Given the description of an element on the screen output the (x, y) to click on. 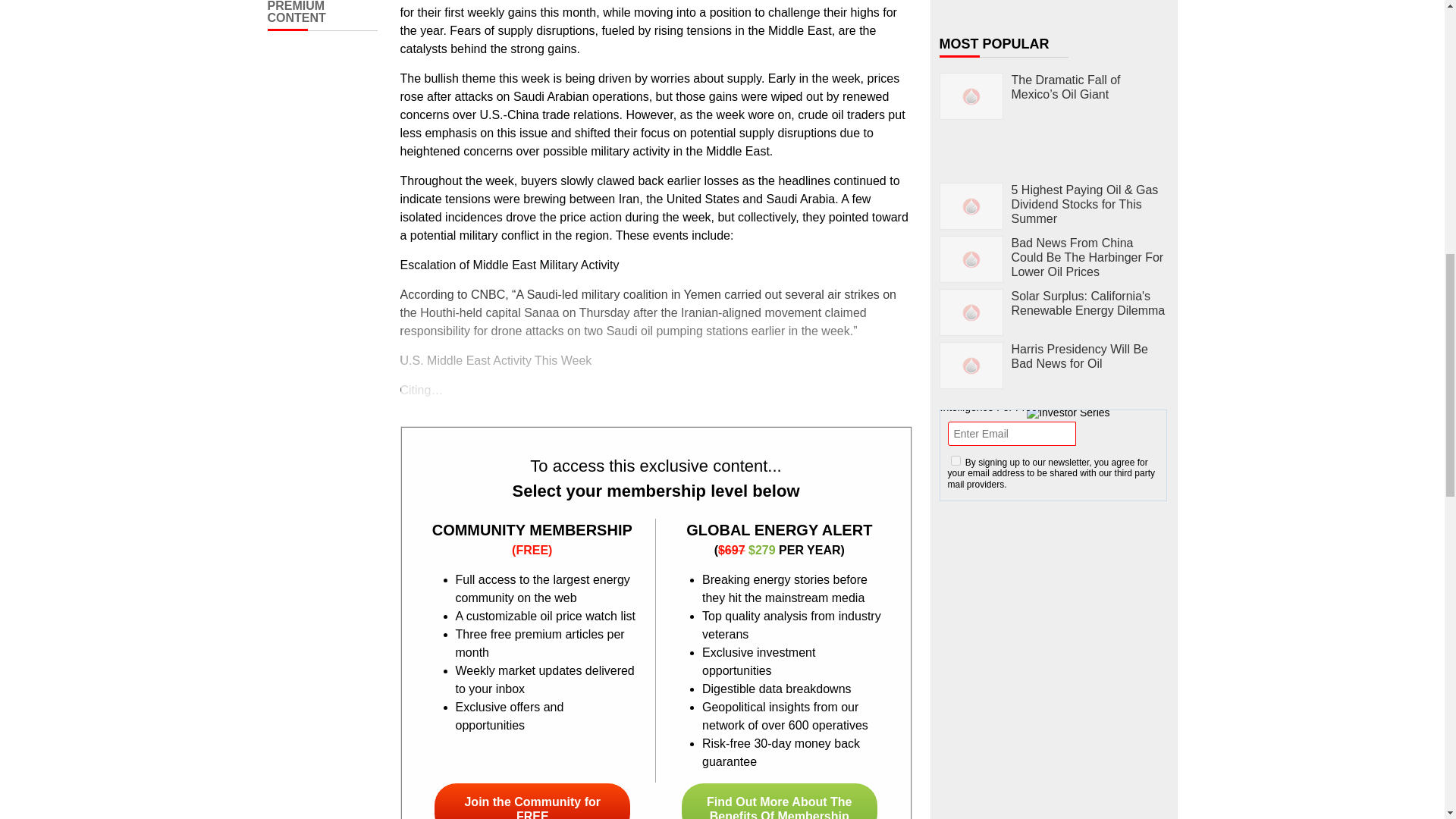
1 (955, 460)
